Given the description of an element on the screen output the (x, y) to click on. 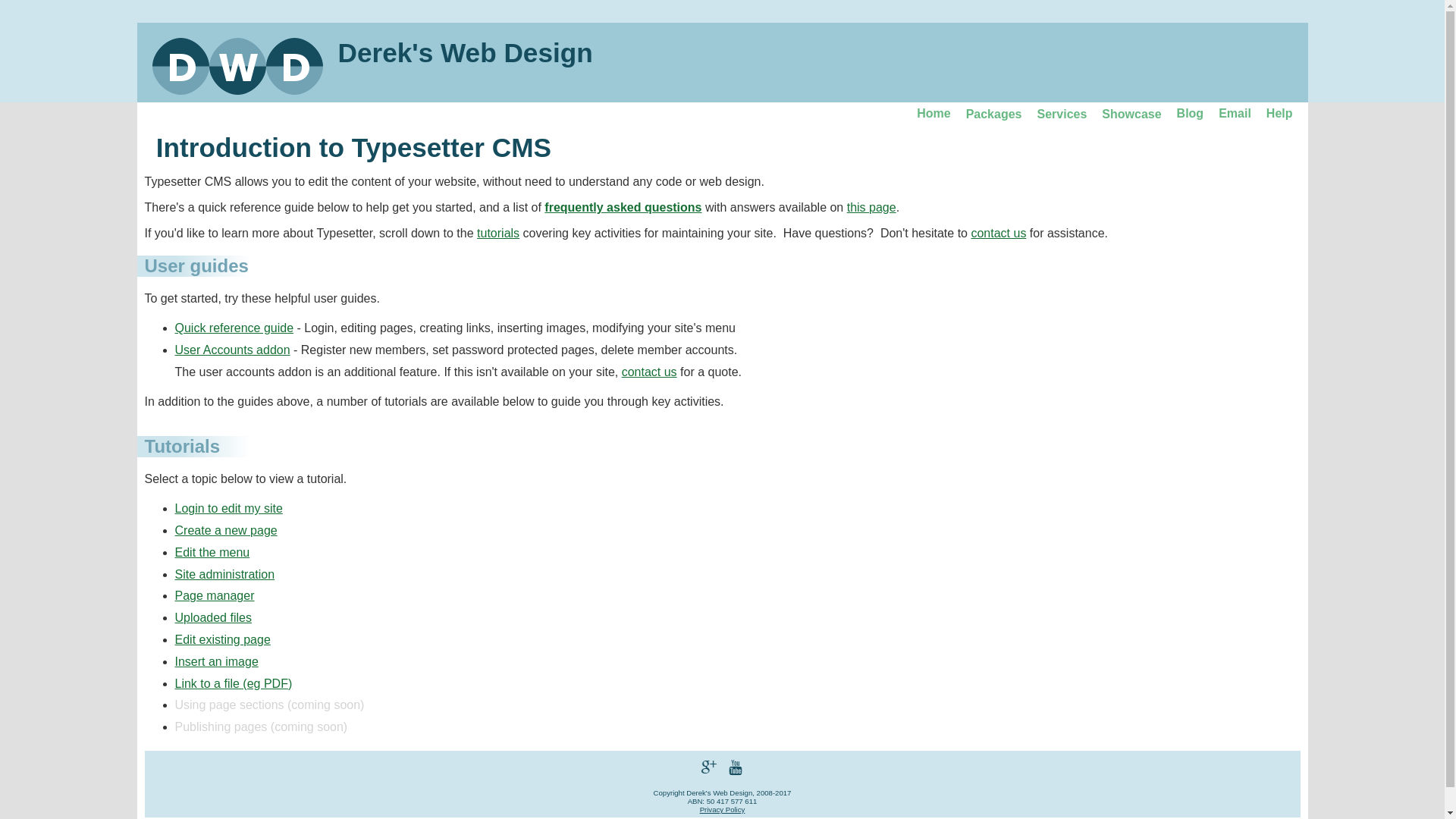
Site administration Element type: text (224, 573)
Uploaded files Element type: text (212, 617)
Privacy Policy Element type: text (722, 809)
Login to edit my site Element type: text (228, 508)
contact us Element type: text (998, 232)
Packages Element type: text (993, 114)
tutorials Element type: text (497, 232)
Insert an image Element type: text (215, 661)
Create a new page Element type: text (225, 530)
Edit the menu Element type: text (211, 552)
Services Element type: text (1061, 114)
Showcase Element type: text (1131, 114)
Page manager Element type: text (214, 595)
Edit existing page Element type: text (221, 639)
Home Element type: text (933, 113)
Link to a file (eg PDF) Element type: text (232, 683)
Tutorials Element type: text (181, 446)
contact us Element type: text (649, 371)
Help Element type: text (1279, 113)
User Accounts addon Element type: text (231, 349)
frequently asked questions Element type: text (622, 206)
Quick reference guide Element type: text (233, 327)
Blog Element type: text (1190, 113)
Email Element type: text (1234, 113)
this page Element type: text (871, 206)
